Given the description of an element on the screen output the (x, y) to click on. 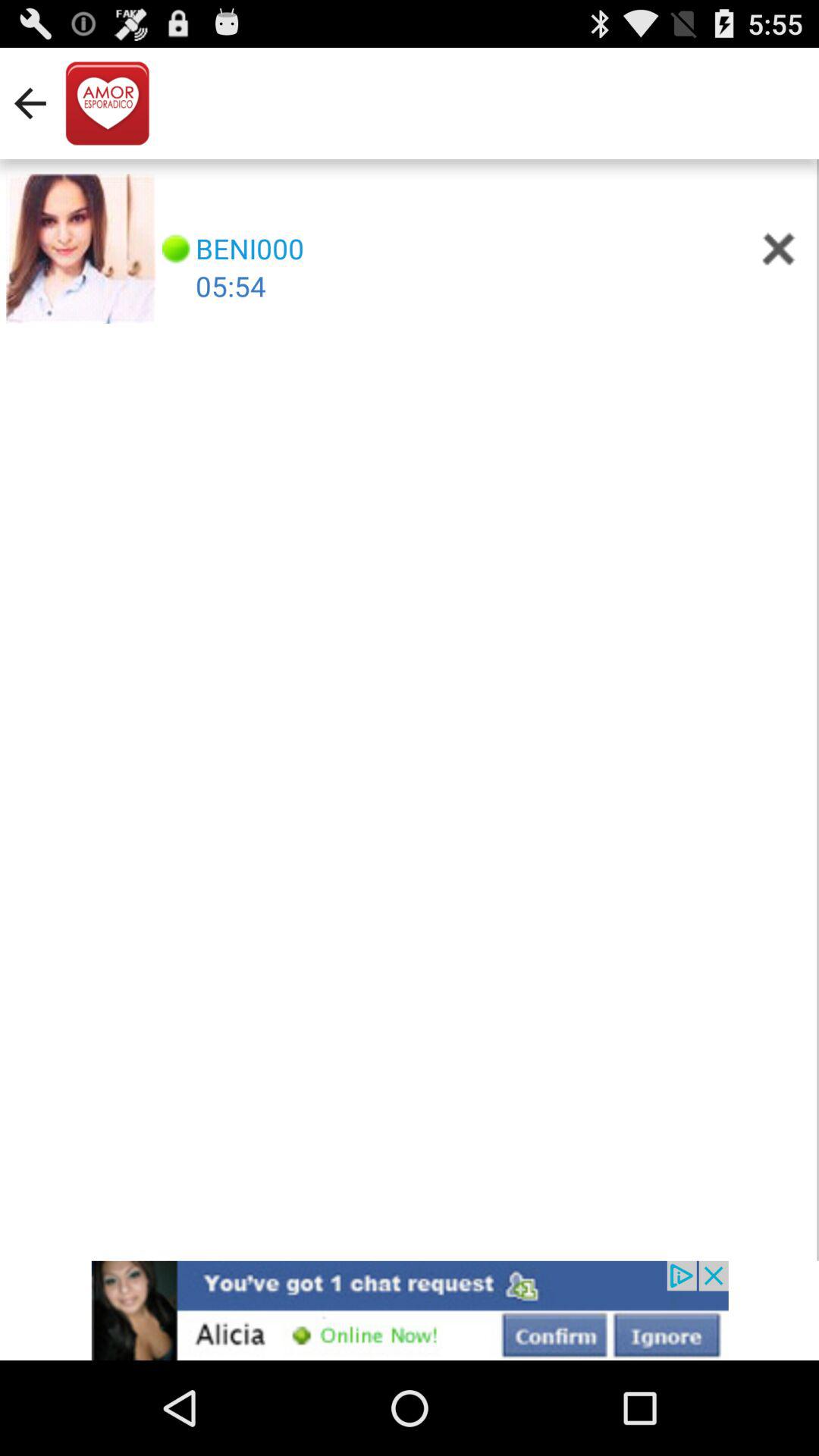
close (778, 248)
